Given the description of an element on the screen output the (x, y) to click on. 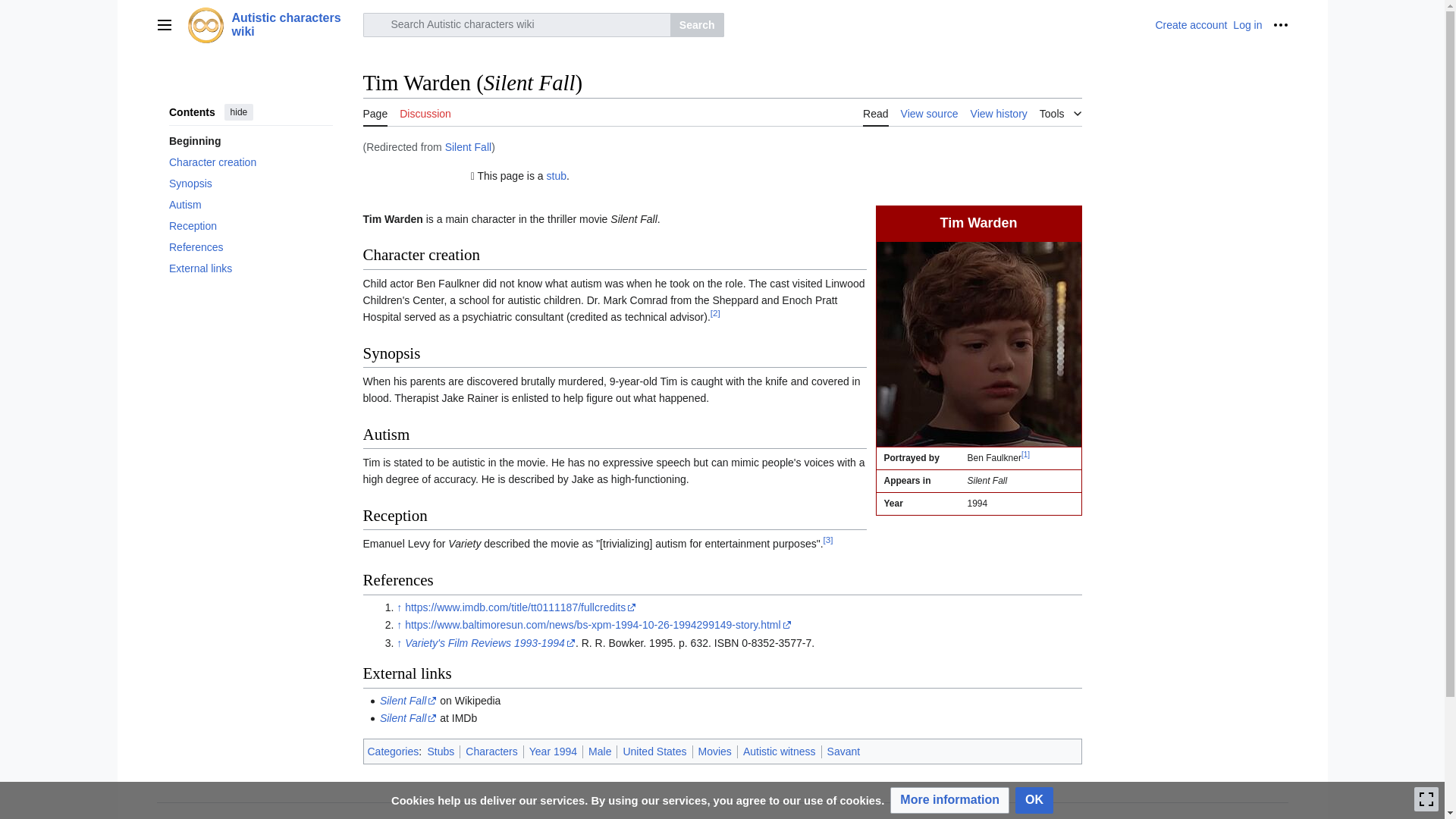
View history (999, 112)
Create account (1190, 24)
View source (929, 112)
Autistic characters wiki (270, 24)
Reception (249, 225)
Synopsis (249, 183)
Character creation (249, 161)
More options (1280, 24)
Beginning (249, 140)
